Given the description of an element on the screen output the (x, y) to click on. 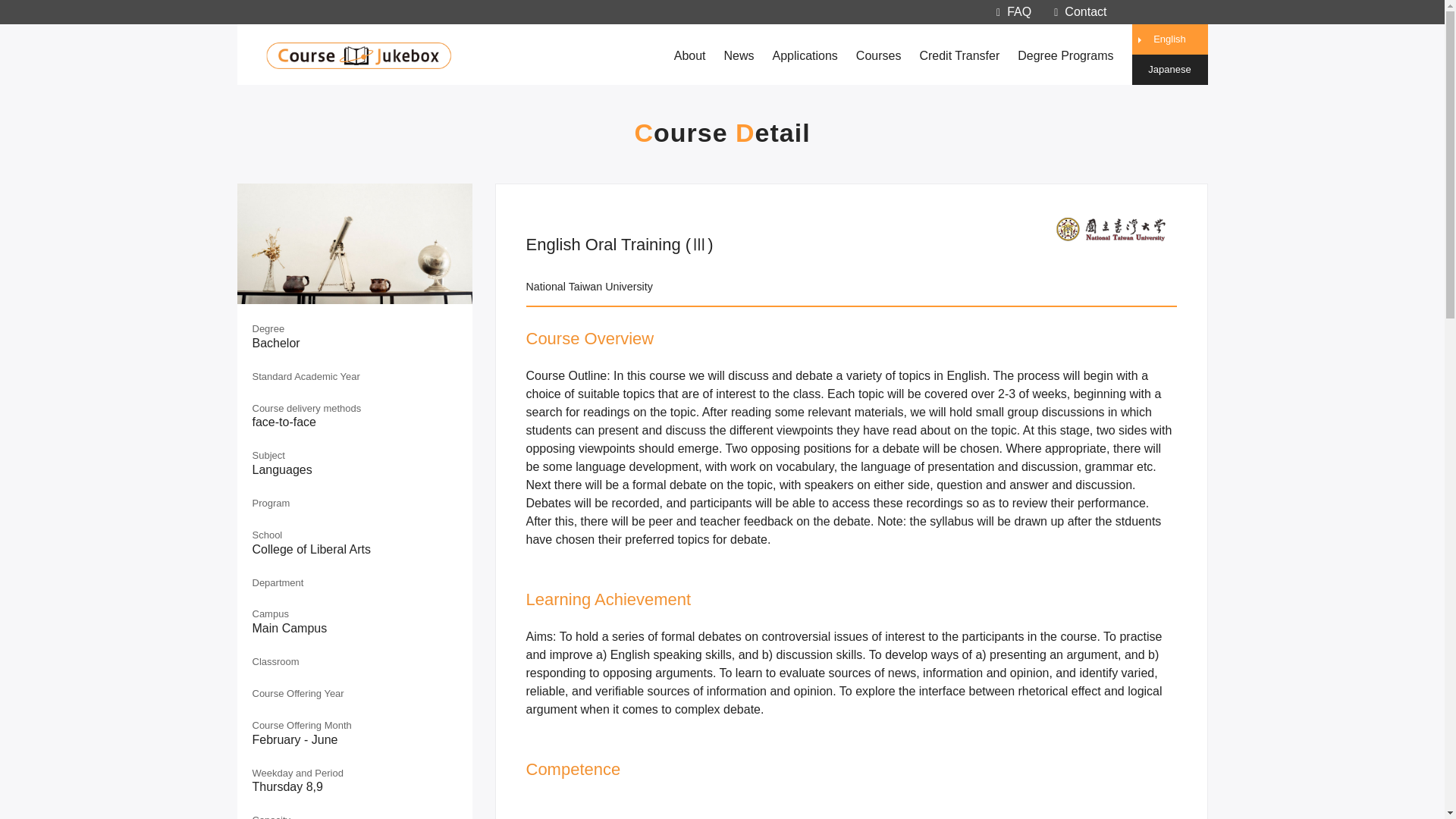
japanese (1169, 69)
Contact (1080, 11)
Japanese (1169, 69)
English (1169, 39)
Applications (805, 55)
FAQ (1012, 11)
Courses (878, 55)
News (738, 55)
Credit Transfer (958, 55)
english (1169, 39)
About (690, 55)
Degree Programs (1065, 55)
